Given the description of an element on the screen output the (x, y) to click on. 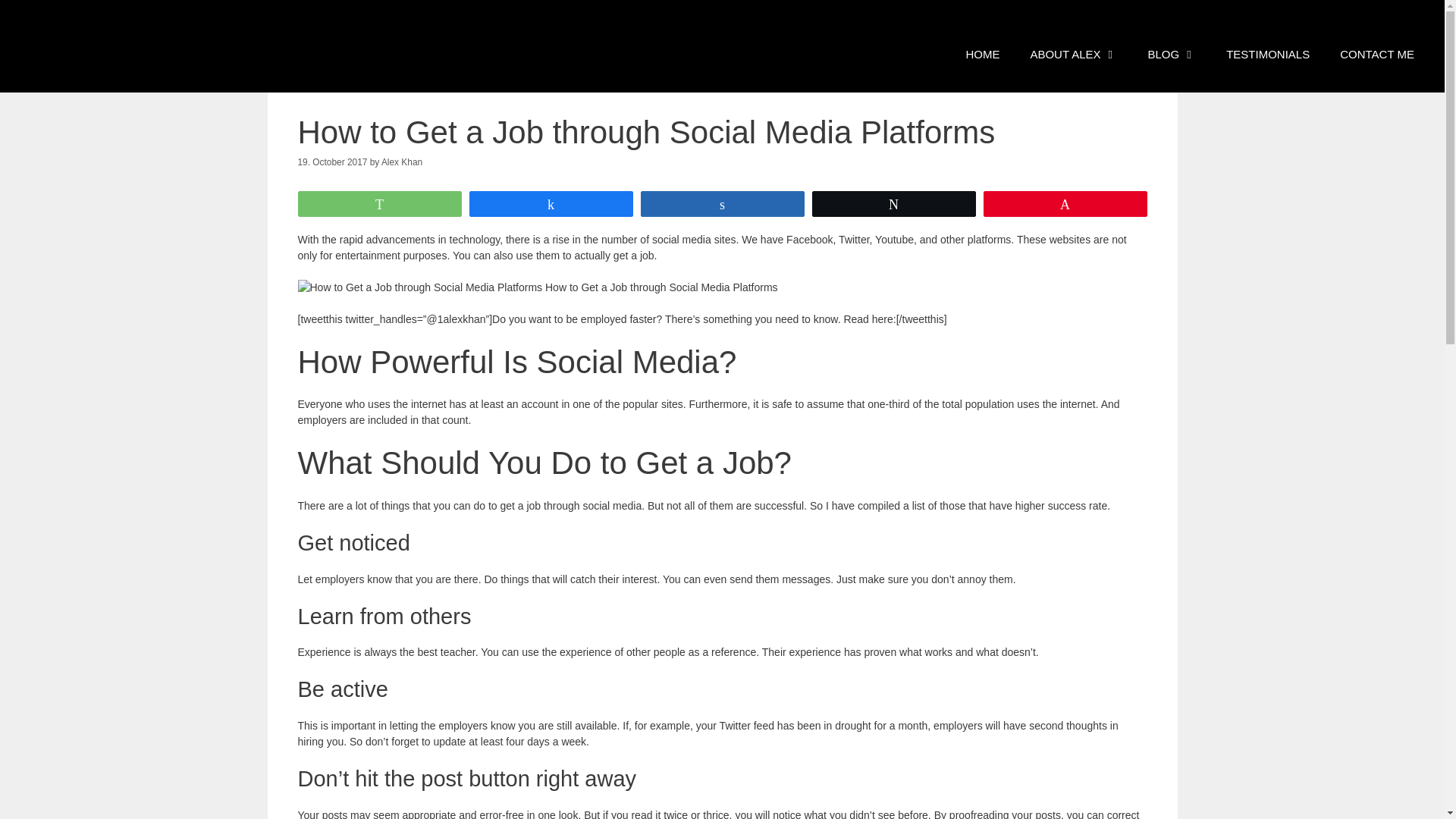
CONTACT ME (1376, 53)
TESTIMONIALS (1267, 53)
HOME (982, 53)
BLOG (1171, 53)
How to Get a Job through Social Media Platforms (537, 287)
View all posts by Alex Khan (401, 162)
Alex Khan (401, 162)
ABOUT ALEX (1073, 53)
